Given the description of an element on the screen output the (x, y) to click on. 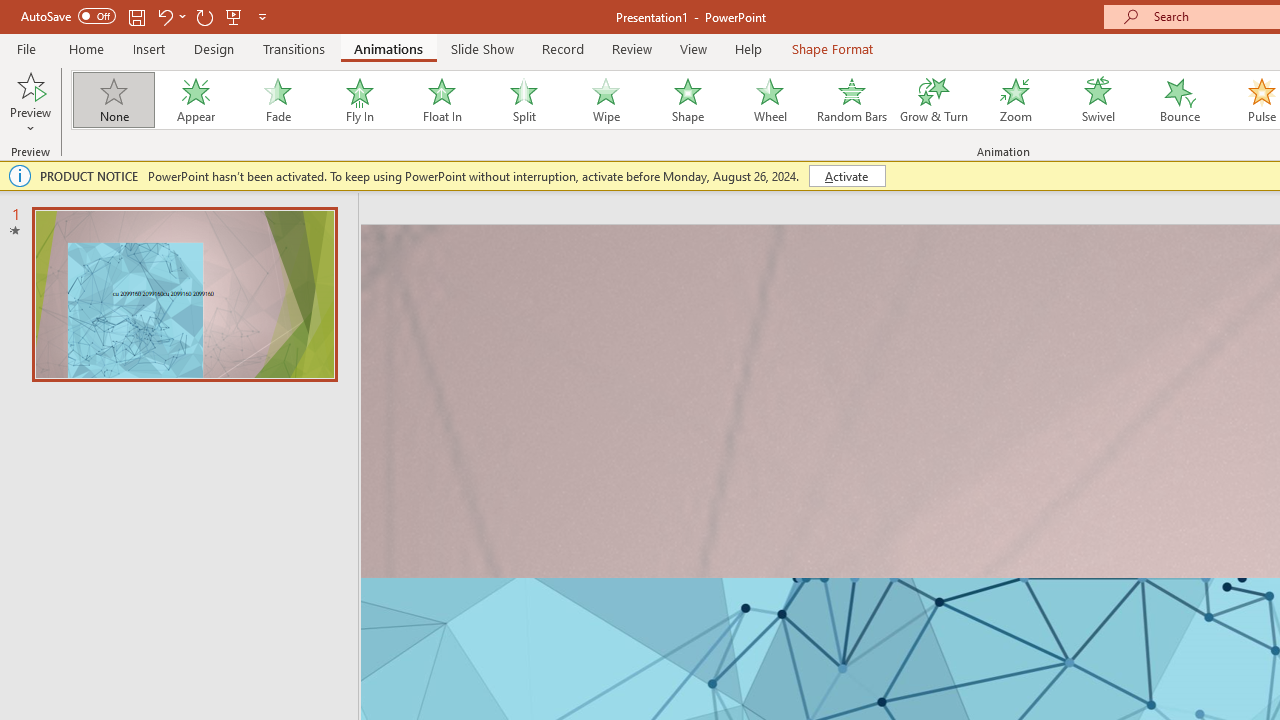
Wheel (770, 100)
Fly In (359, 100)
Shape Format (832, 48)
Swivel (1098, 100)
Shape (687, 100)
Activate (846, 175)
